Given the description of an element on the screen output the (x, y) to click on. 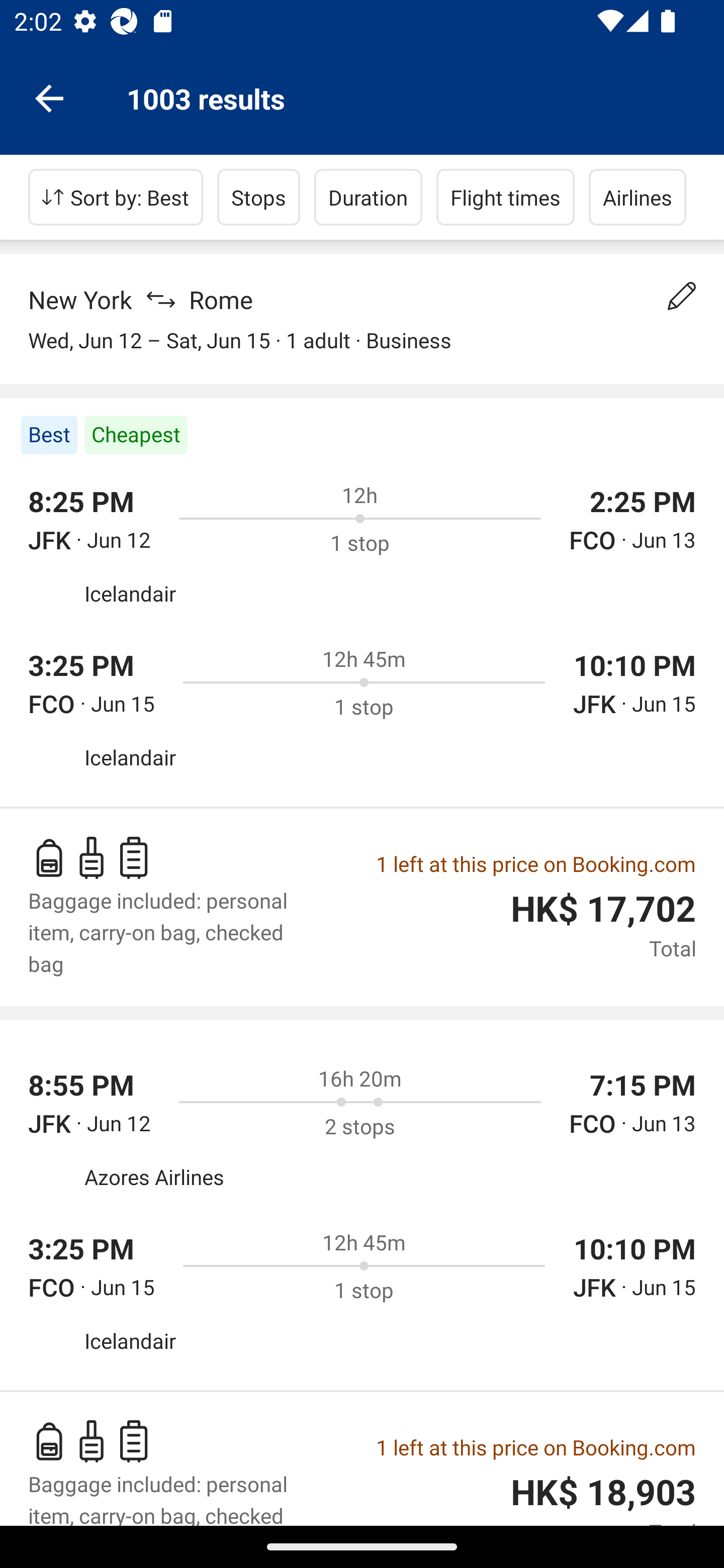
Navigate up (49, 97)
Sort by: Best (115, 197)
Stops (258, 197)
Duration (368, 197)
Flight times (505, 197)
Airlines (637, 197)
Change your search details (681, 296)
HK$ 17,702 (603, 909)
HK$ 18,903 (603, 1492)
